Given the description of an element on the screen output the (x, y) to click on. 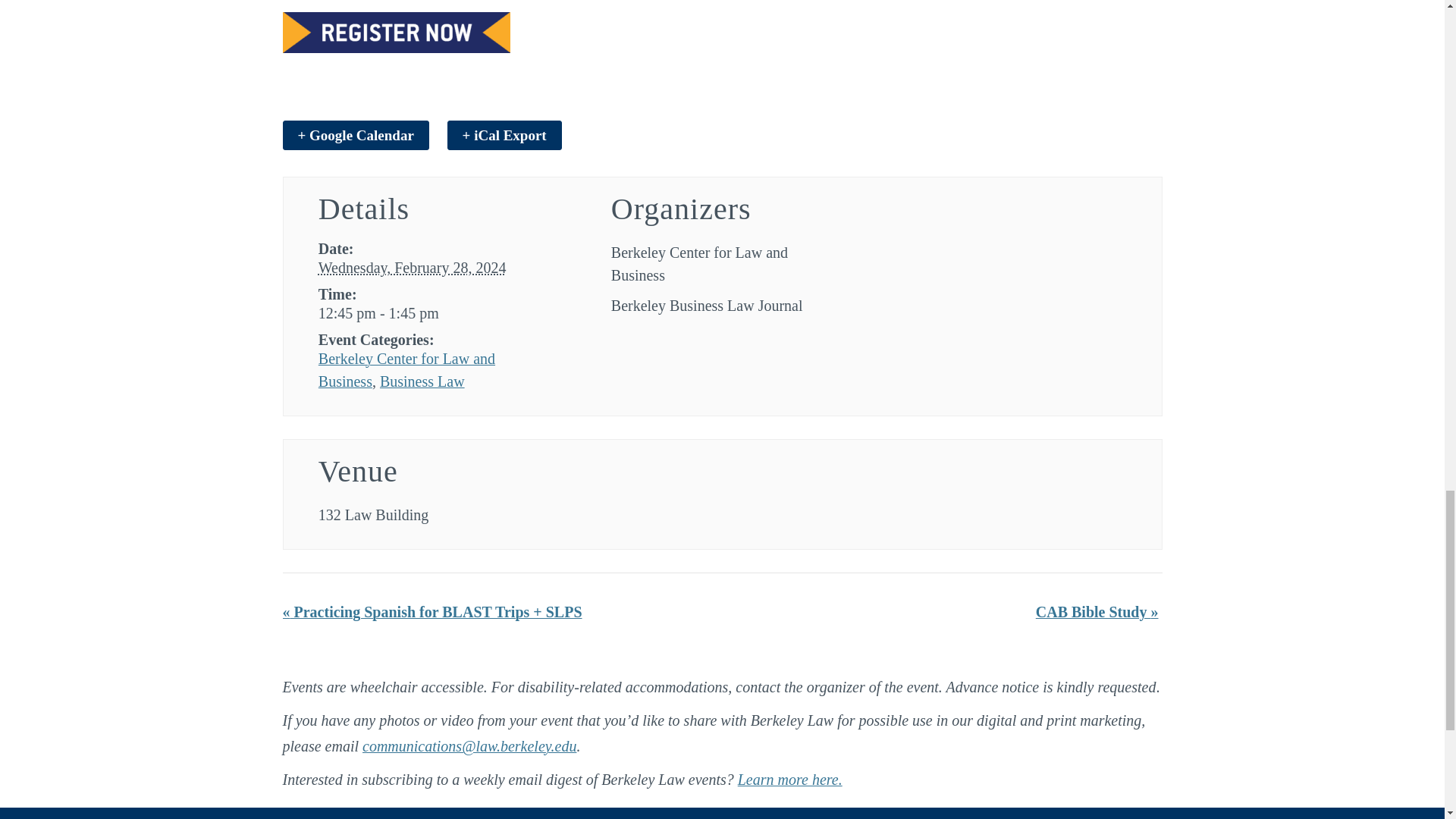
2024-02-28 (429, 313)
Add to Google Calendar (355, 134)
2024-02-28 (412, 267)
Download .ics file (504, 134)
